Given the description of an element on the screen output the (x, y) to click on. 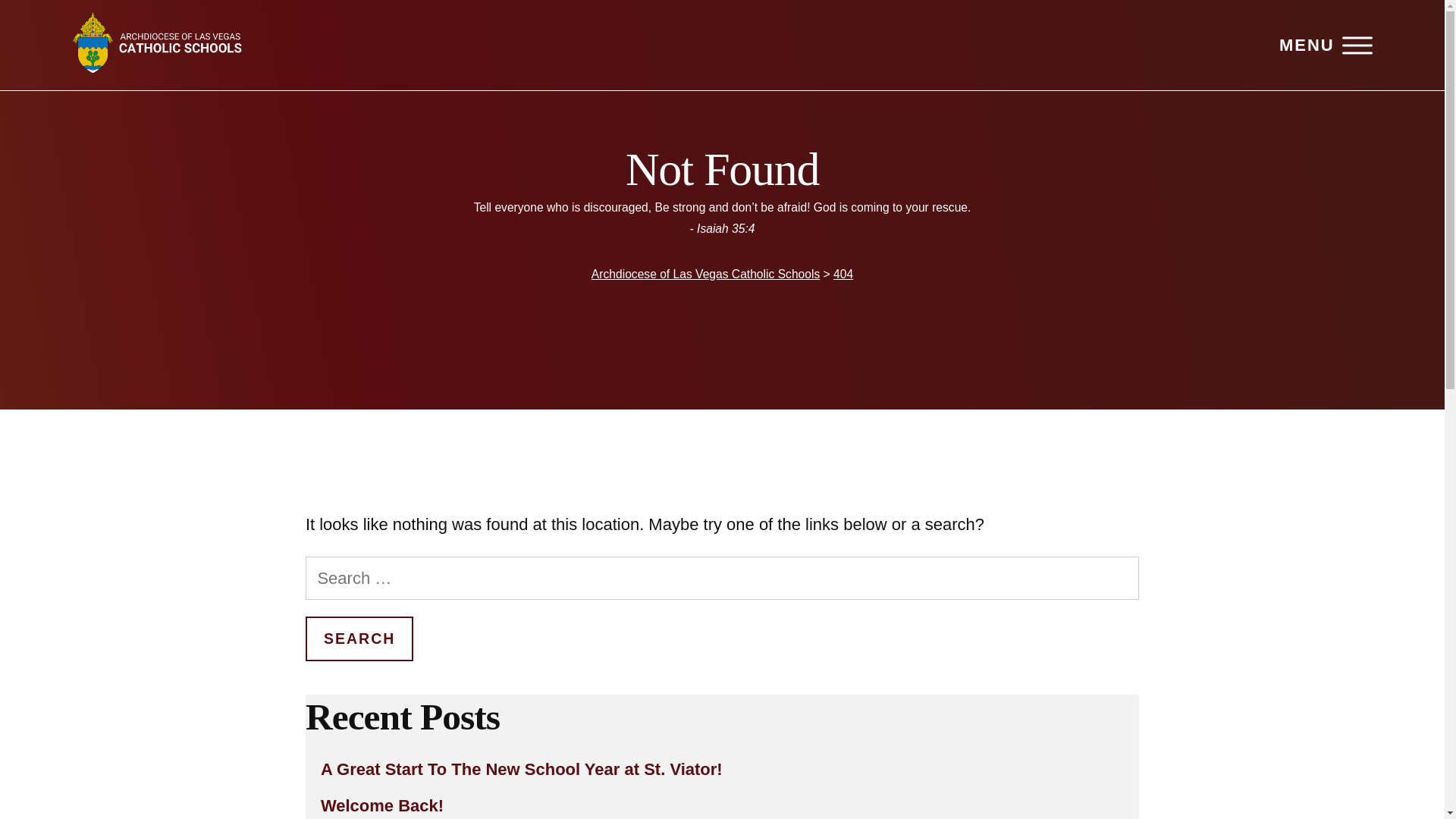
Search (359, 638)
Search (359, 638)
404 (842, 273)
Go to Archdiocese of Las Vegas Catholic Schools. (705, 273)
Welcome Back! (721, 805)
MENU (1326, 45)
Search (359, 638)
Archdiocese of Las Vegas Catholic Schools (705, 273)
Go to 404. (842, 273)
A Great Start To The New School Year at St. Viator! (721, 768)
